Given the description of an element on the screen output the (x, y) to click on. 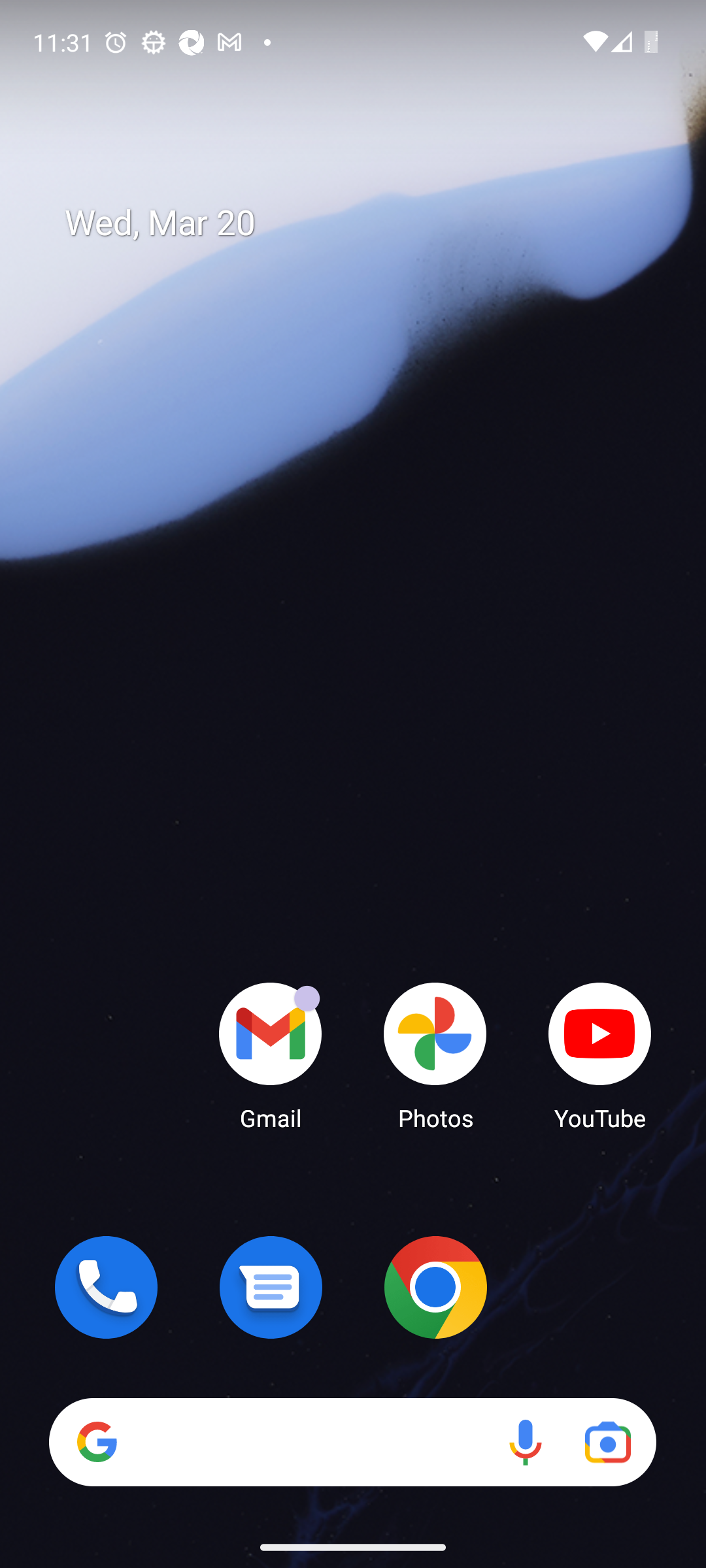
Wed, Mar 20 (366, 223)
Gmail Gmail has 22 notifications (270, 1054)
Photos (435, 1054)
YouTube (599, 1054)
Phone (106, 1287)
Messages (270, 1287)
Chrome (435, 1287)
Voice search (525, 1441)
Google Lens (607, 1441)
